Given the description of an element on the screen output the (x, y) to click on. 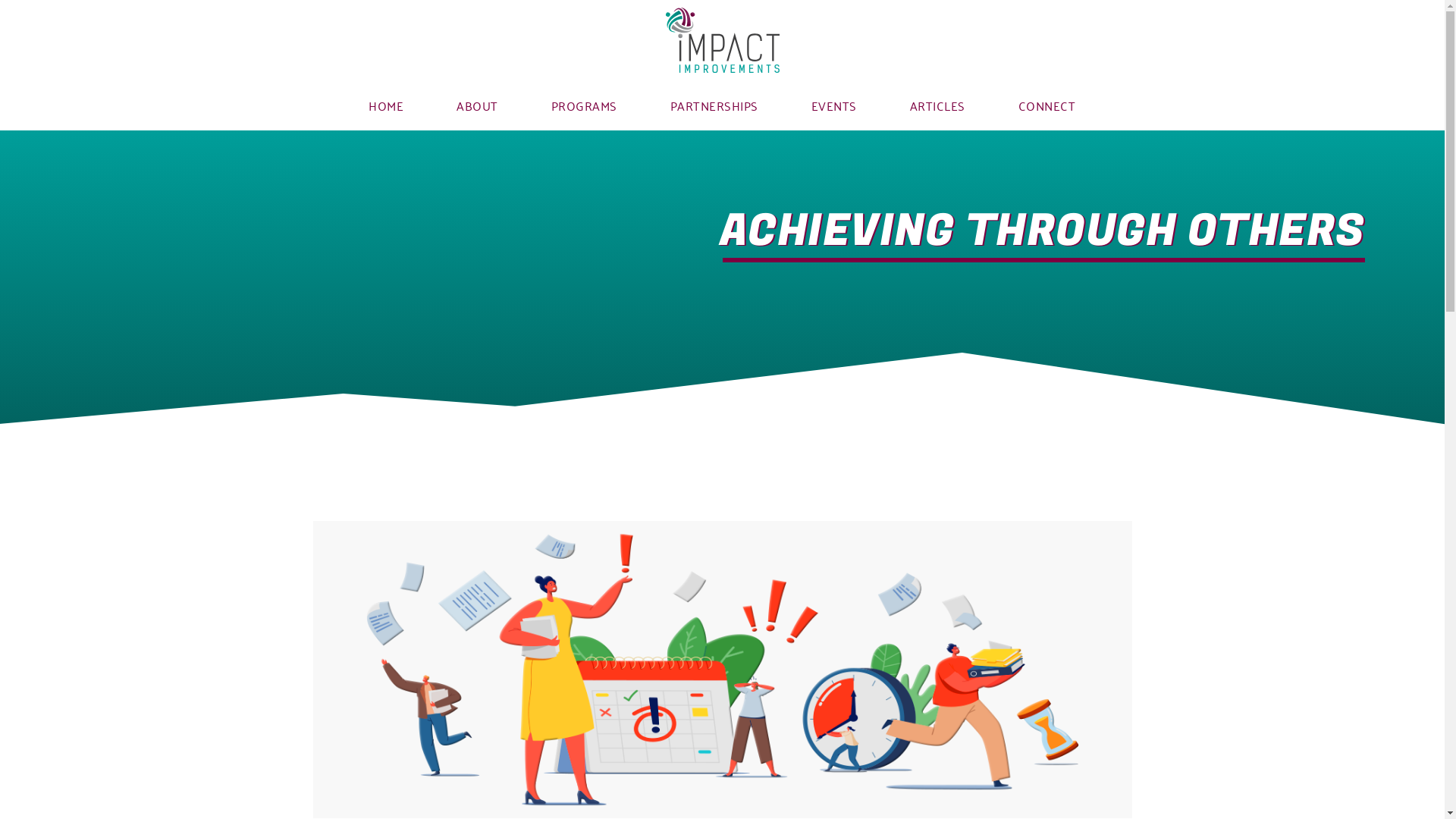
ABOUT Element type: text (477, 104)
PROGRAMS Element type: text (584, 104)
PARTNERSHIPS Element type: text (714, 104)
HOME Element type: text (385, 104)
CONNECT Element type: text (1047, 104)
ARTICLES Element type: text (937, 104)
EVENTS Element type: text (834, 104)
